Given the description of an element on the screen output the (x, y) to click on. 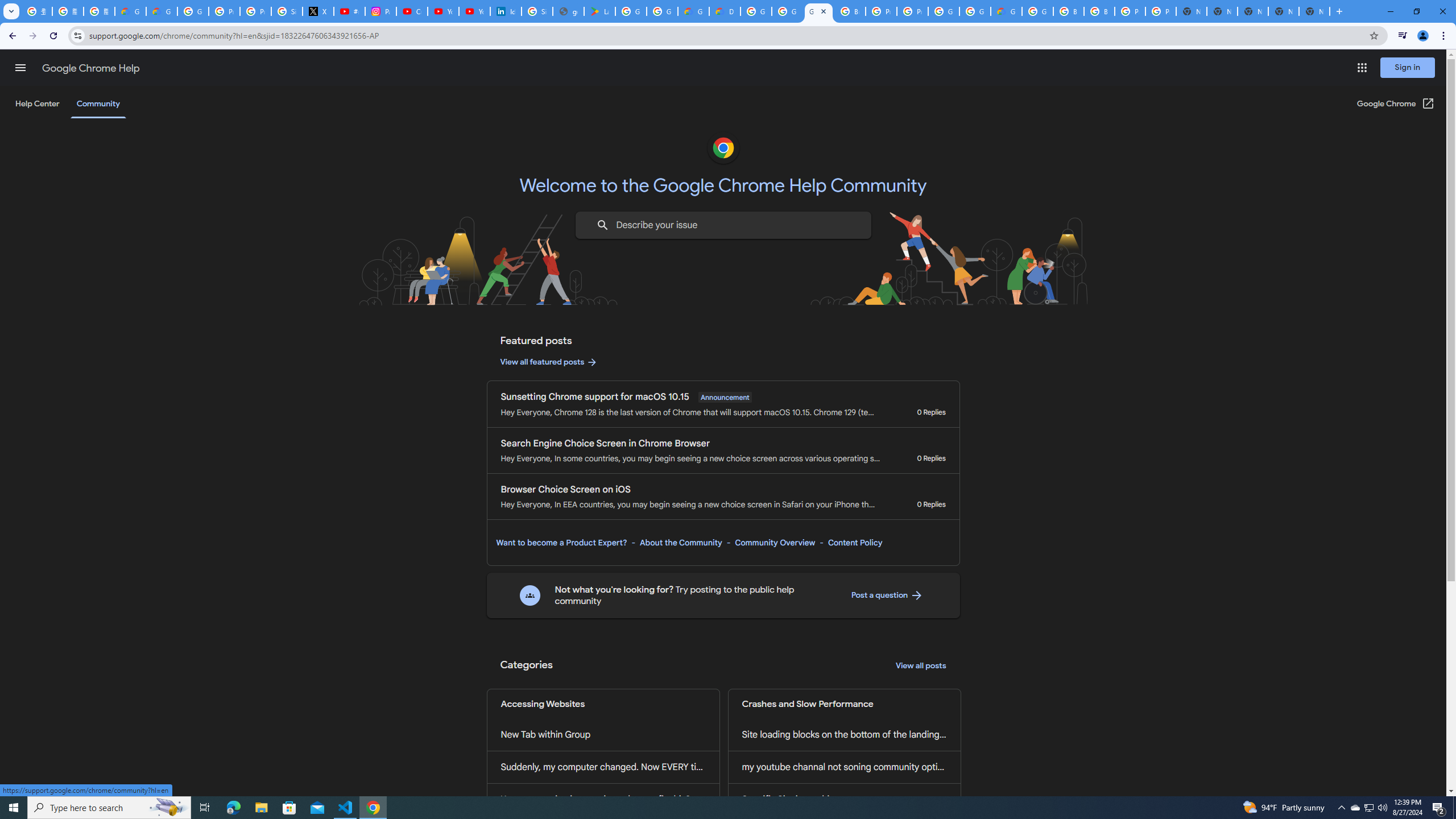
YouTube Culture & Trends - YouTube Top 10, 2021 (474, 11)
